Given the description of an element on the screen output the (x, y) to click on. 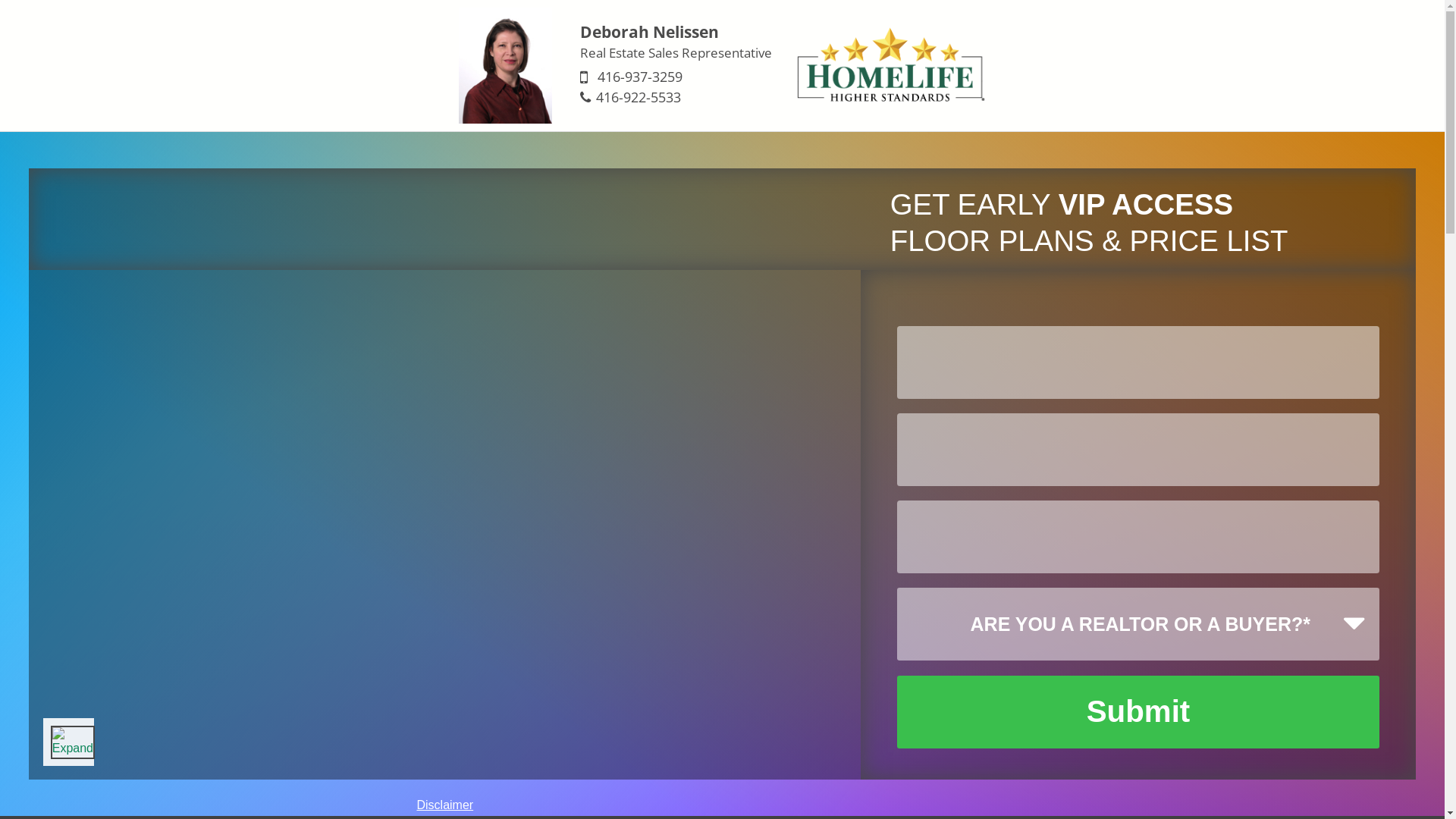
Submit Element type: text (1137, 711)
416-922-5533 Element type: text (638, 96)
416-937-3259 Element type: text (639, 76)
Disclaimer Element type: text (445, 805)
